Given the description of an element on the screen output the (x, y) to click on. 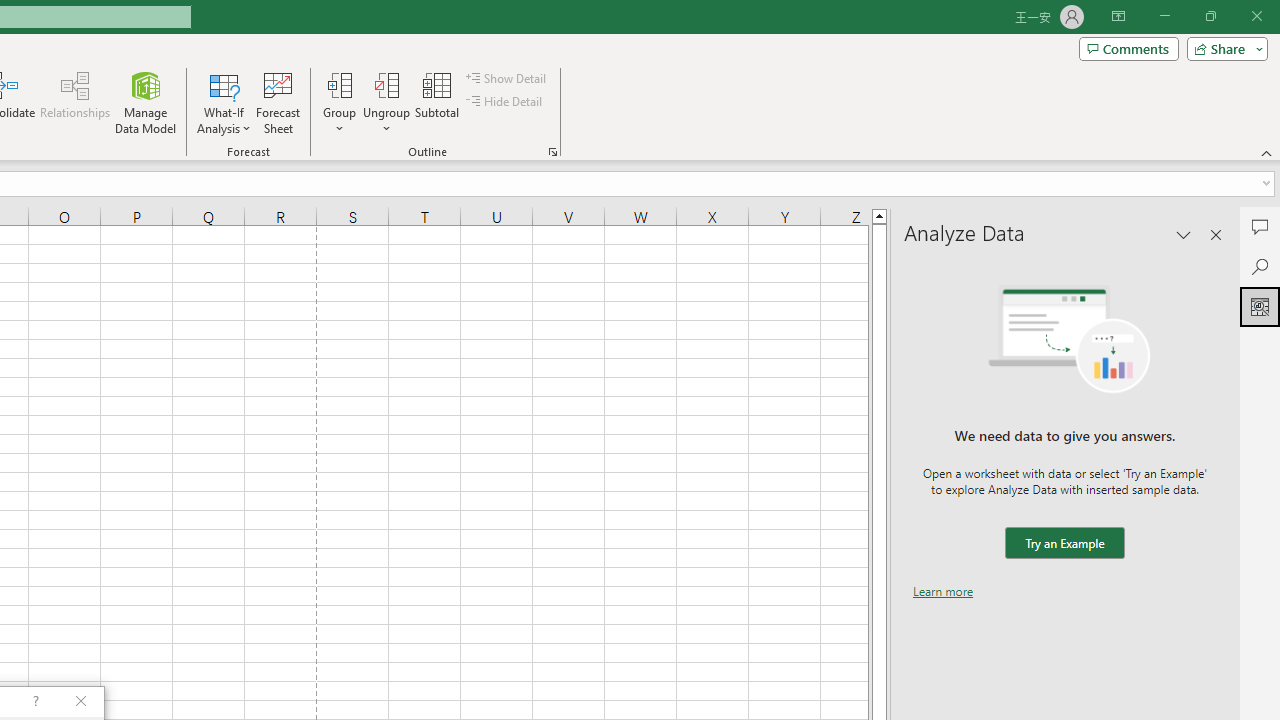
Learn more (943, 591)
